Given the description of an element on the screen output the (x, y) to click on. 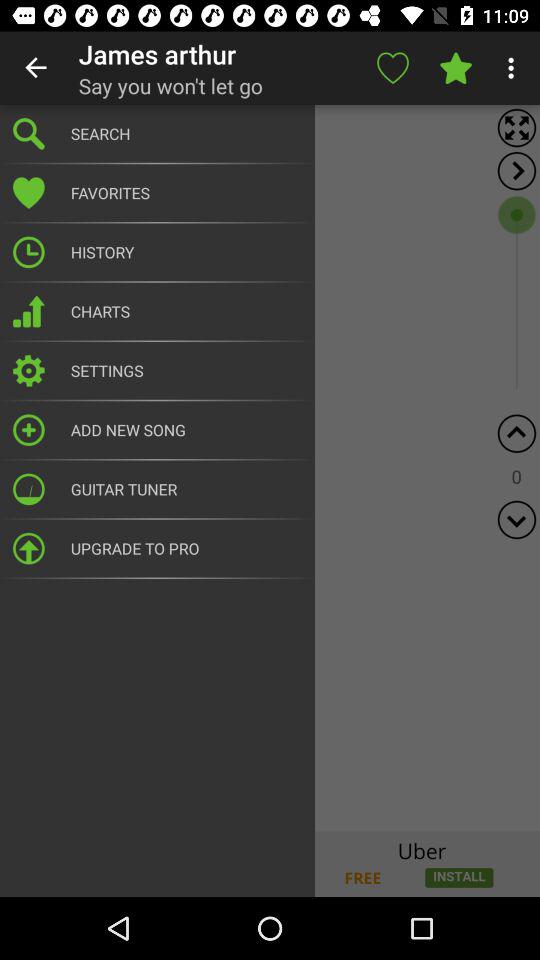
advertisement image link (270, 864)
